Given the description of an element on the screen output the (x, y) to click on. 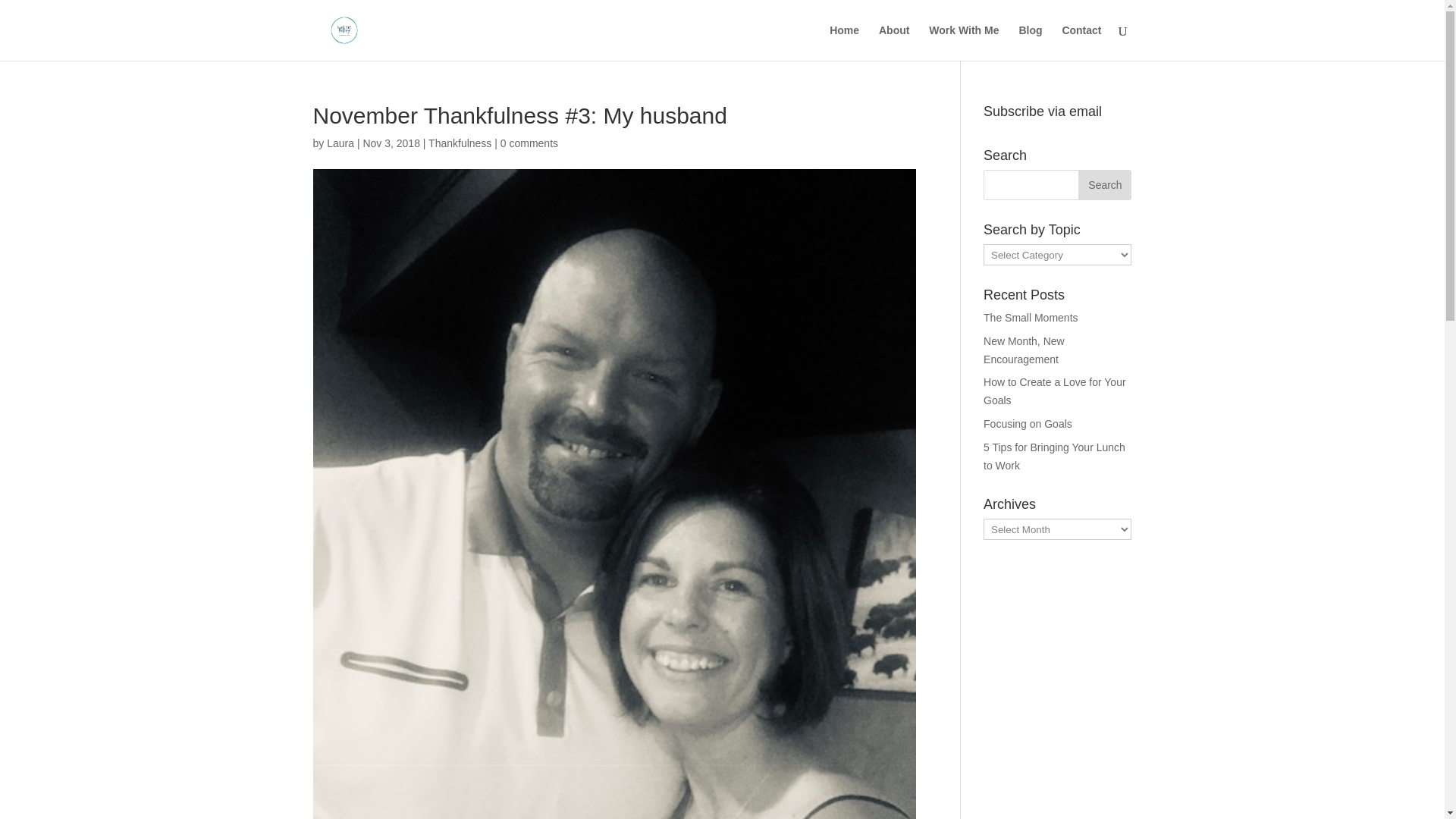
New Month, New Encouragement (1024, 349)
Thankfulness (460, 143)
Laura (339, 143)
5 Tips for Bringing Your Lunch to Work (1054, 456)
Focusing on Goals (1027, 423)
Search (1104, 184)
Search (1104, 184)
Posts by Laura (339, 143)
How to Create a Love for Your Goals (1054, 390)
The Small Moments (1030, 317)
0 comments (528, 143)
Work With Me (963, 42)
Contact (1080, 42)
